Given the description of an element on the screen output the (x, y) to click on. 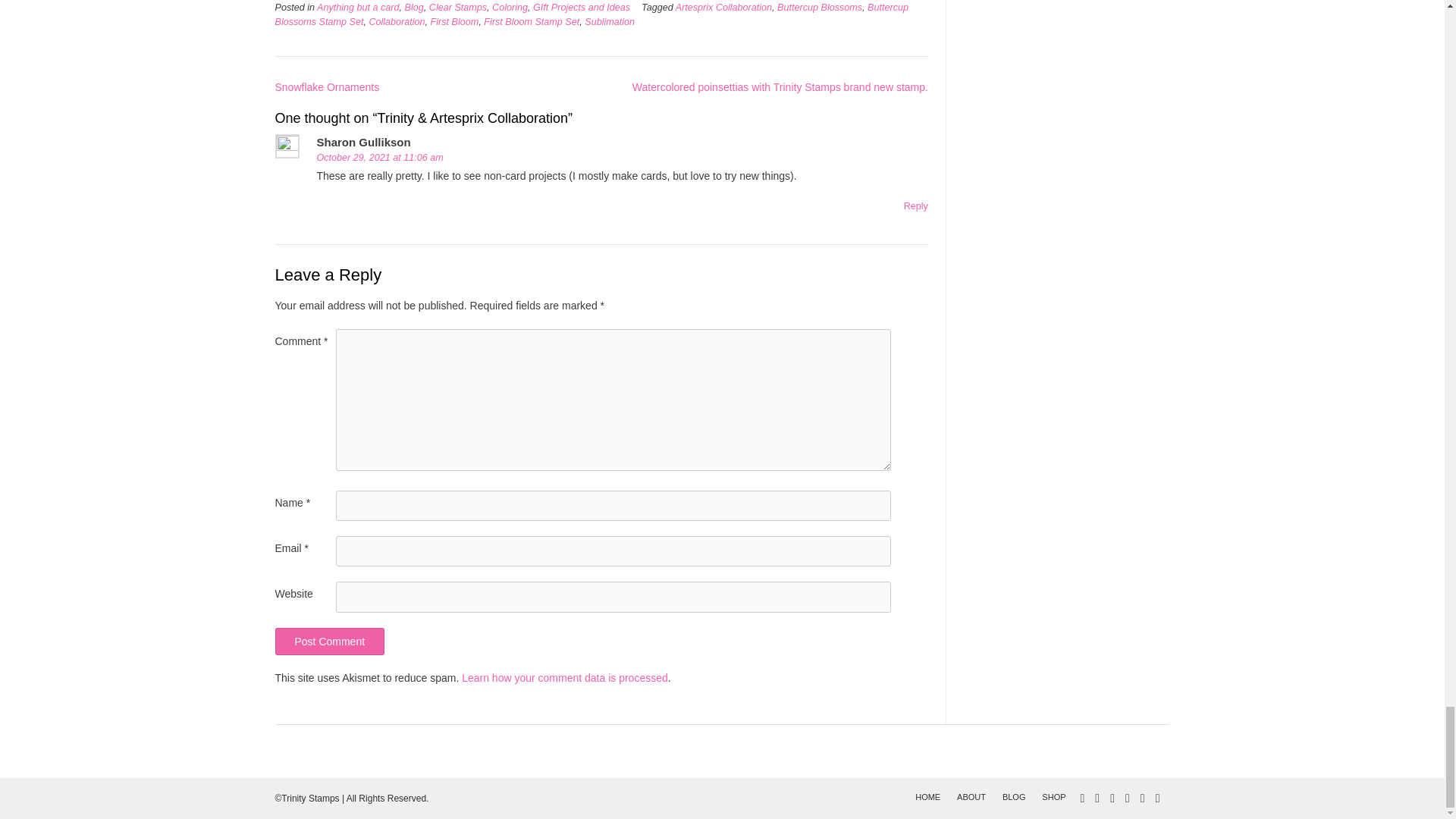
Snowflake Ornaments (326, 87)
Artesprix Collaboration (723, 7)
Post Comment (329, 641)
Buttercup Blossoms (819, 7)
GIft Projects and Ideas (581, 7)
Clear Stamps (457, 7)
Sublimation (609, 21)
Reply (916, 205)
Anything but a card (357, 7)
First Bloom Stamp Set (531, 21)
First Bloom (454, 21)
Learn how your comment data is processed (564, 677)
October 29, 2021 at 11:06 am (380, 157)
Blog (413, 7)
